Given the description of an element on the screen output the (x, y) to click on. 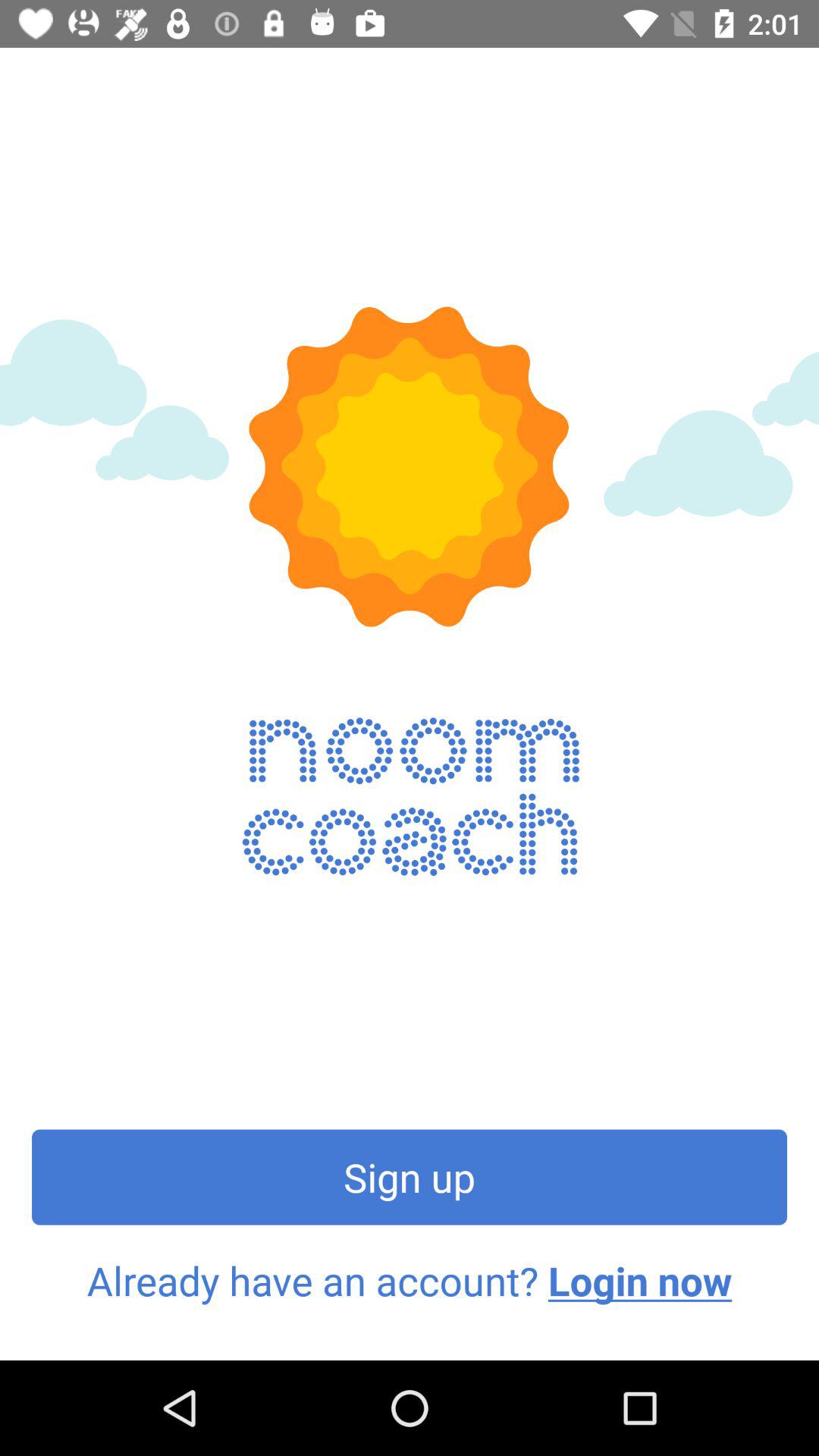
swipe until already have an item (409, 1280)
